Given the description of an element on the screen output the (x, y) to click on. 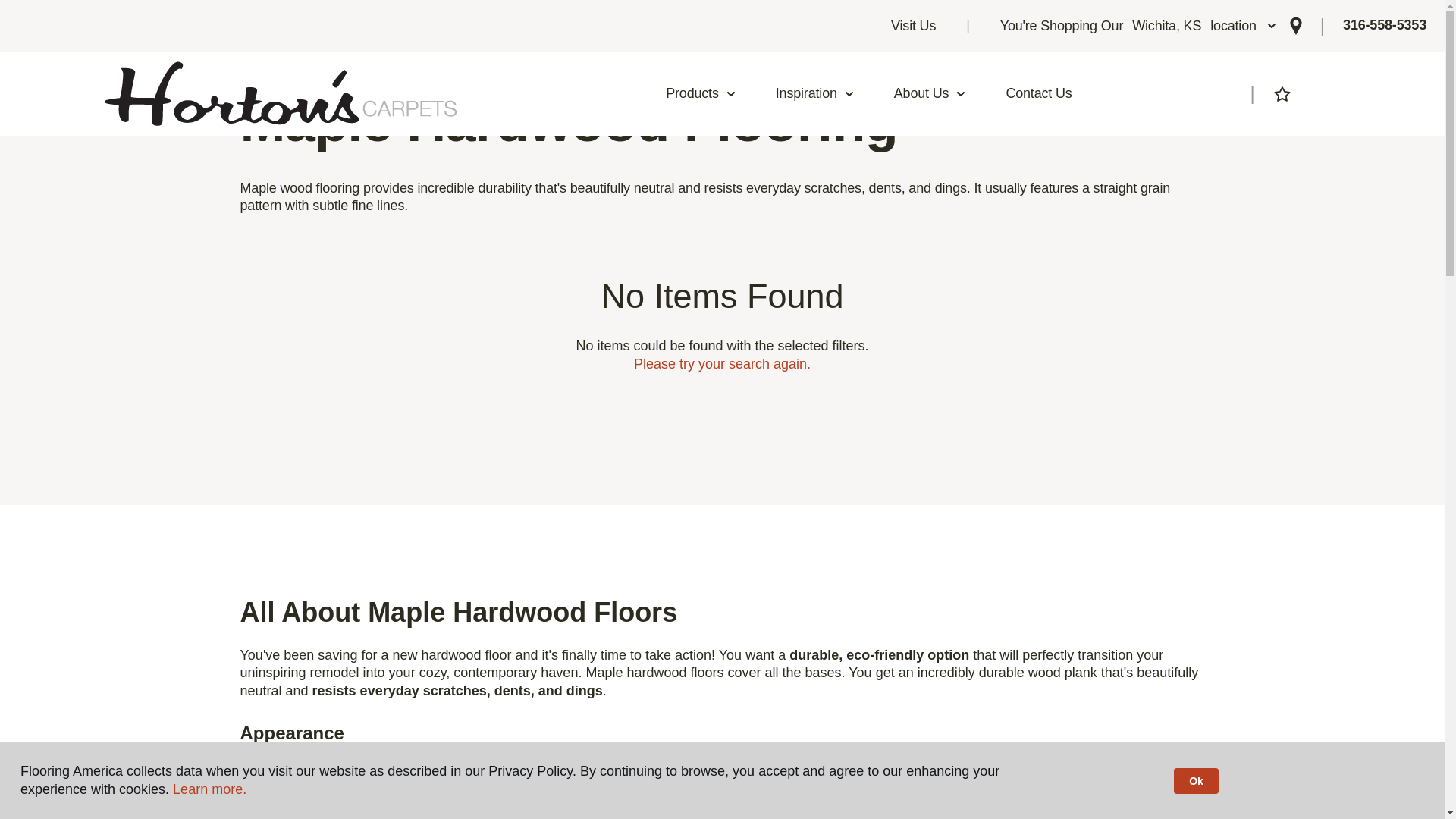
About Us (930, 94)
Products (700, 94)
316-558-5353 (1384, 25)
Visit Us (1139, 26)
Contact Us (913, 26)
Inspiration (1038, 94)
